Given the description of an element on the screen output the (x, y) to click on. 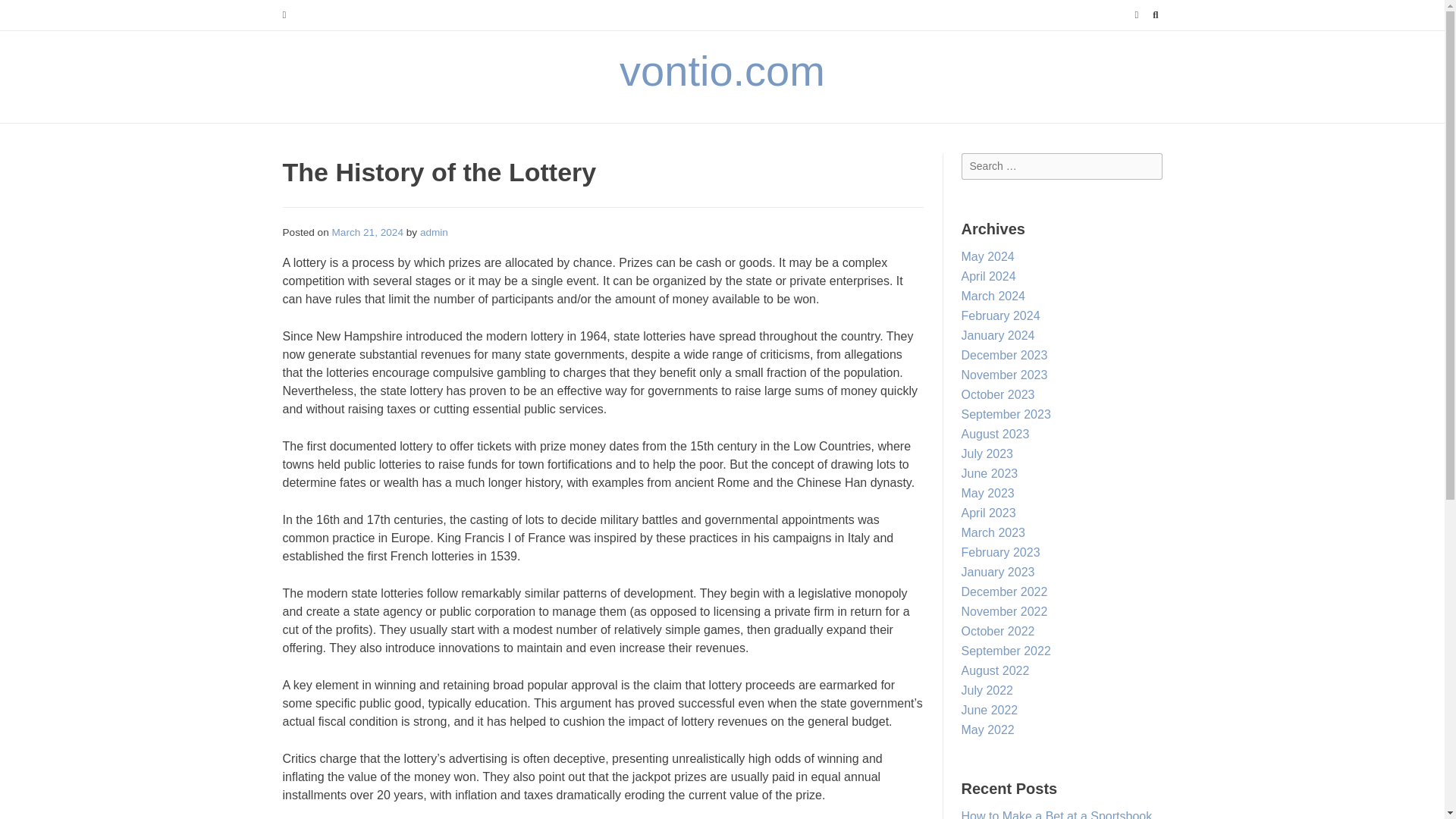
November 2023 (1004, 374)
February 2023 (1000, 552)
vontio.com (722, 70)
March 21, 2024 (367, 232)
June 2022 (988, 709)
December 2023 (1004, 354)
January 2024 (997, 335)
October 2023 (997, 394)
August 2023 (994, 433)
May 2024 (987, 256)
